Given the description of an element on the screen output the (x, y) to click on. 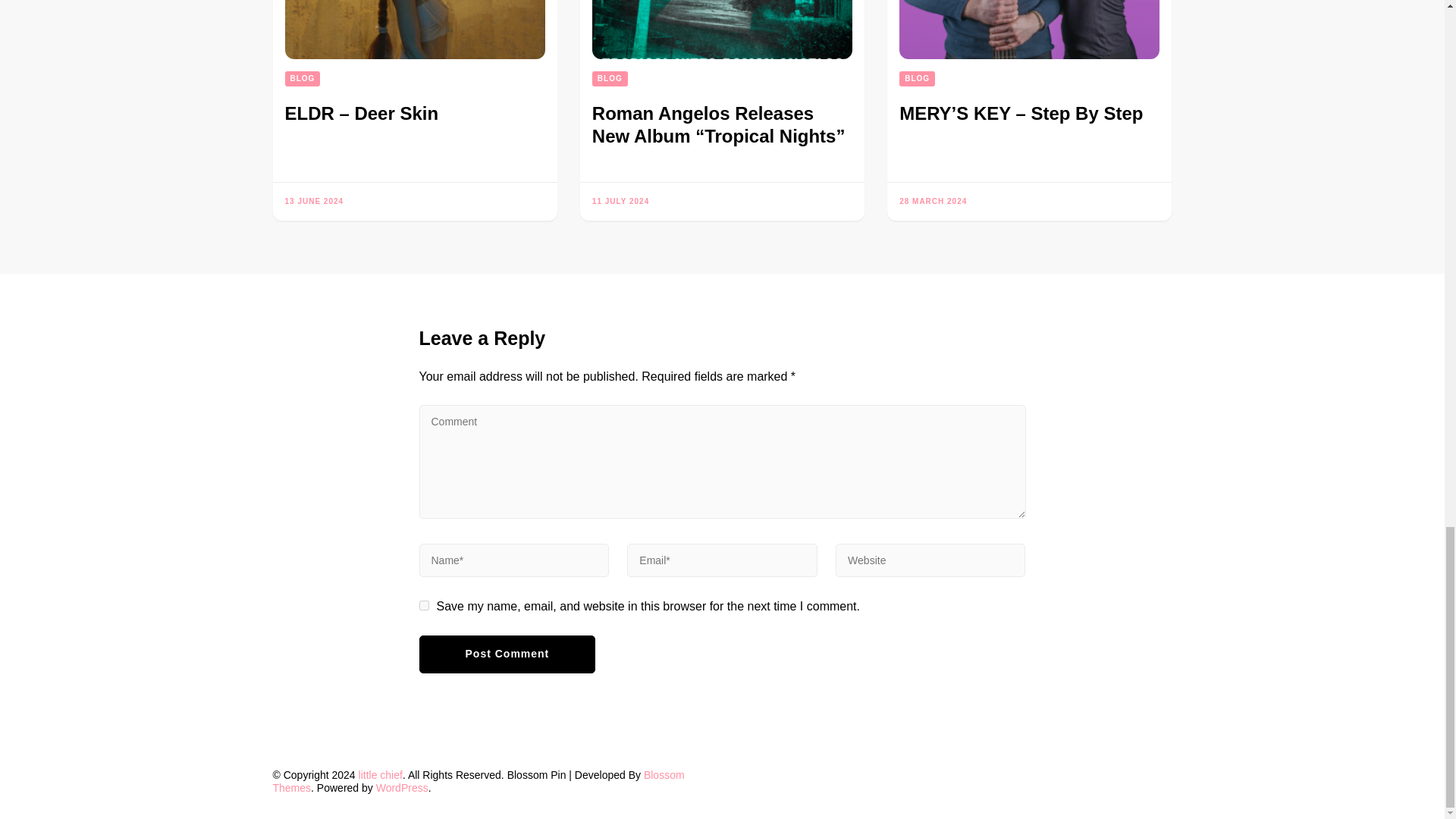
BLOG (302, 78)
yes (423, 605)
13 JUNE 2024 (314, 201)
Post Comment (507, 654)
BLOG (609, 78)
11 JULY 2024 (620, 201)
